Given the description of an element on the screen output the (x, y) to click on. 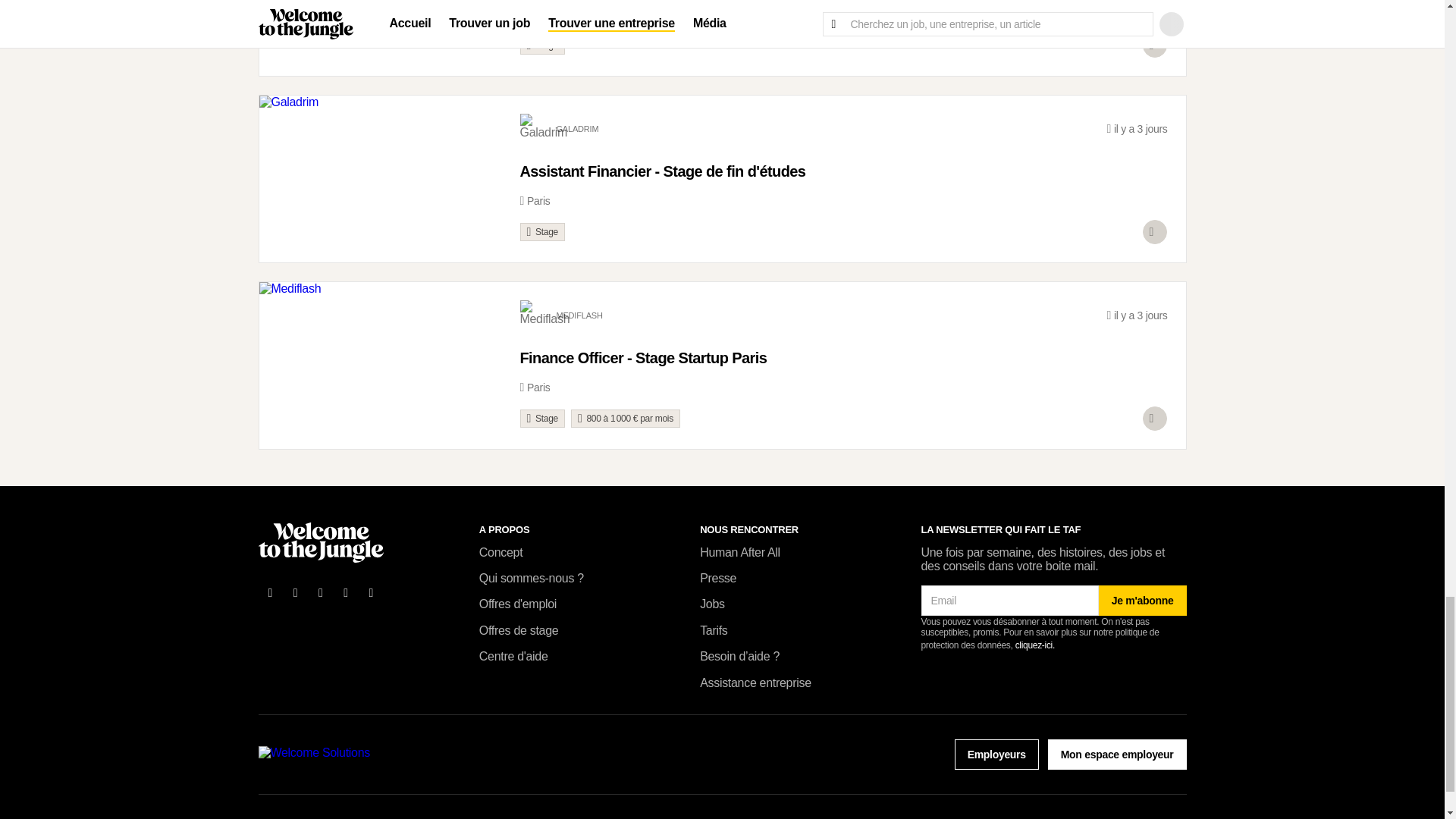
Cash management intern (843, 3)
Finance Officer - Stage Startup Paris (843, 364)
Welcome to the Jungle (319, 542)
Facebook (269, 592)
Twitter (295, 592)
LinkedIn (320, 592)
YouTube (345, 592)
Instagram (371, 592)
